Given the description of an element on the screen output the (x, y) to click on. 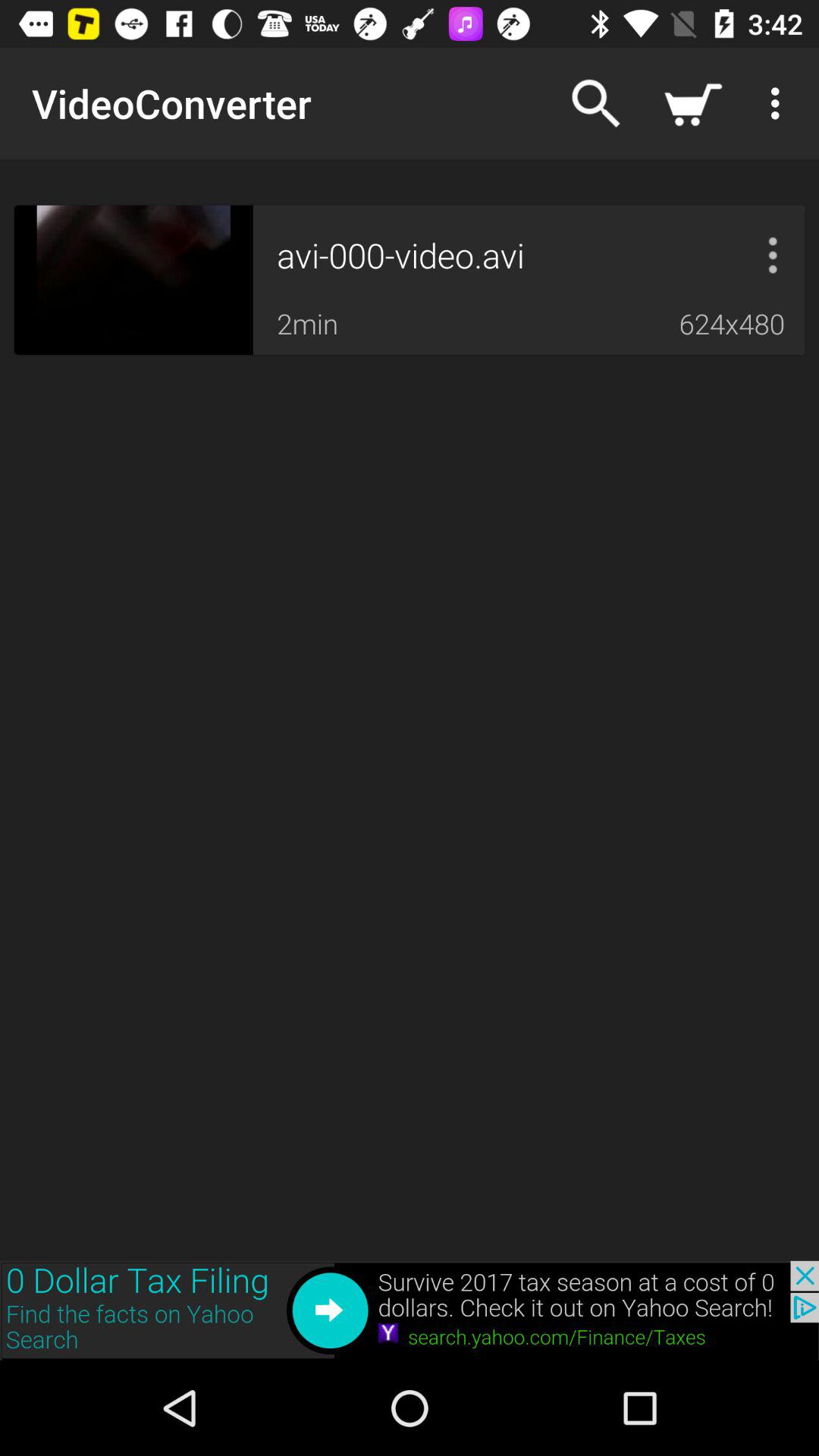
access video options (772, 254)
